Given the description of an element on the screen output the (x, y) to click on. 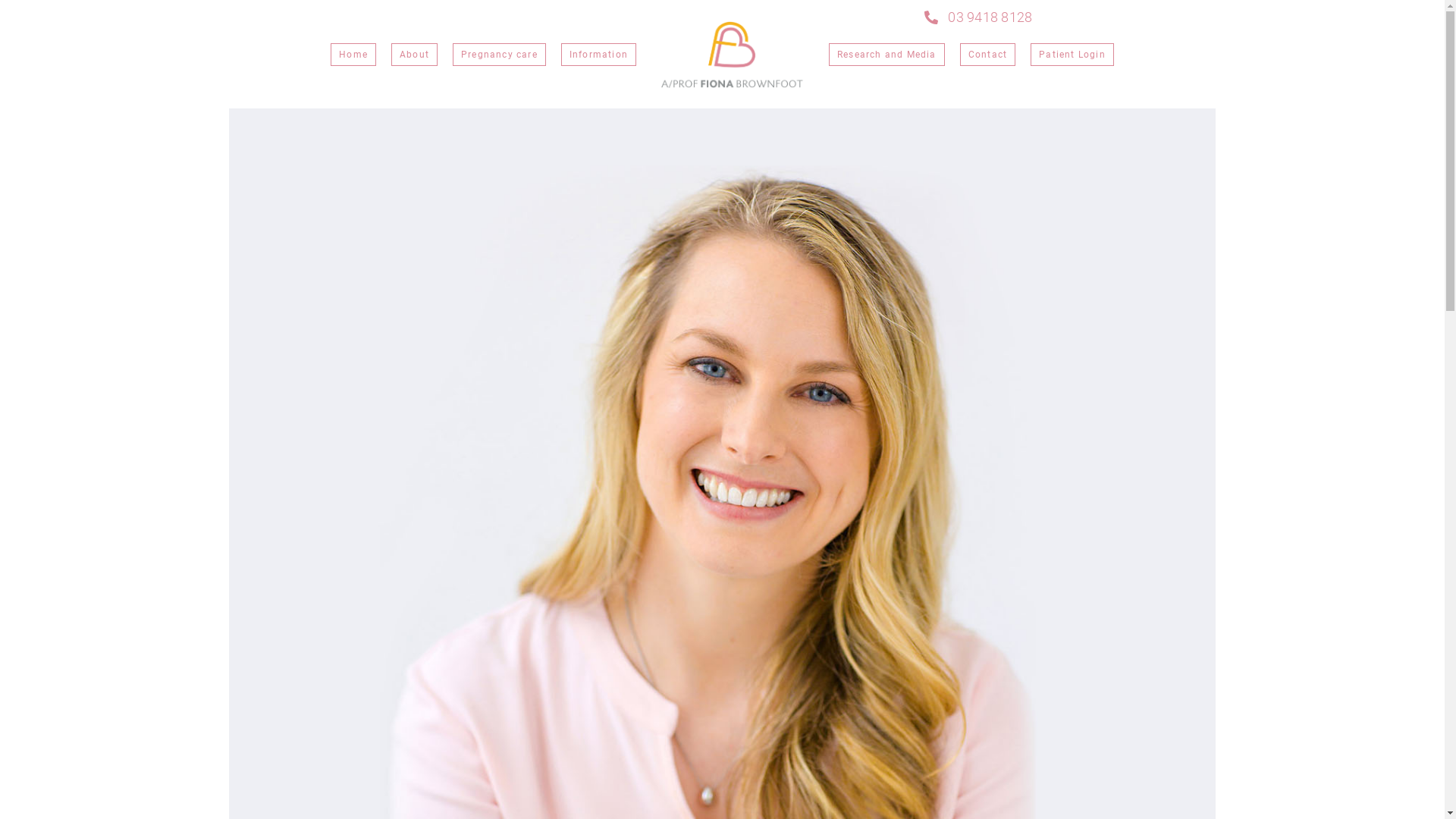
Research and Media Element type: text (886, 54)
Information Element type: text (598, 54)
03 9418 8128 Element type: text (978, 17)
Home Element type: text (353, 54)
Contact Element type: text (987, 54)
Patient Login Element type: text (1071, 54)
About Element type: text (414, 54)
Pregnancy care Element type: text (499, 54)
